Given the description of an element on the screen output the (x, y) to click on. 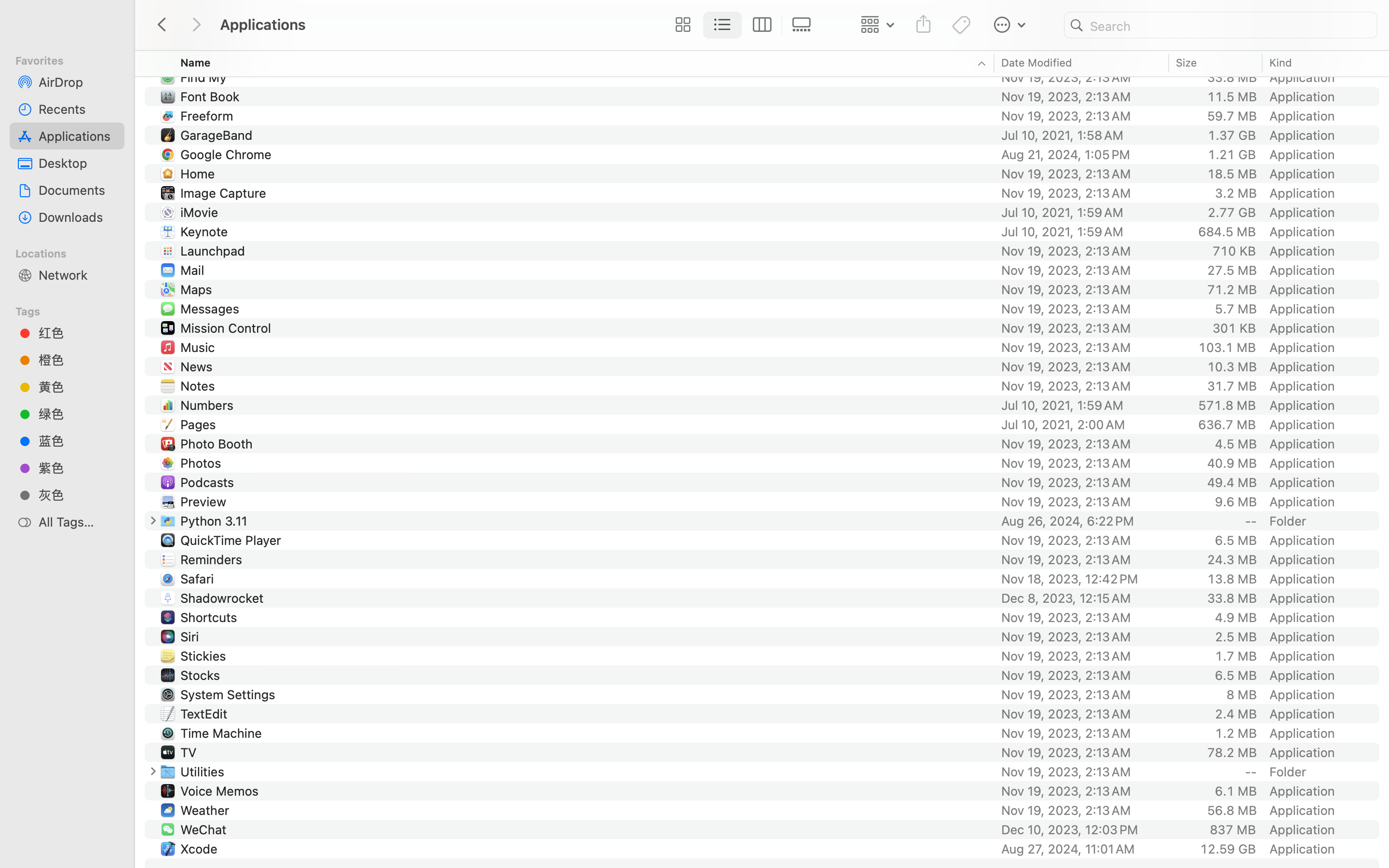
49.4 MB Element type: AXStaticText (1231, 481)
Find My Element type: AXTextField (205, 76)
Desktop Element type: AXStaticText (77, 162)
2.5 MB Element type: AXStaticText (1235, 636)
Jul 10, 2021, 1:59 AM Element type: AXStaticText (1081, 404)
